Given the description of an element on the screen output the (x, y) to click on. 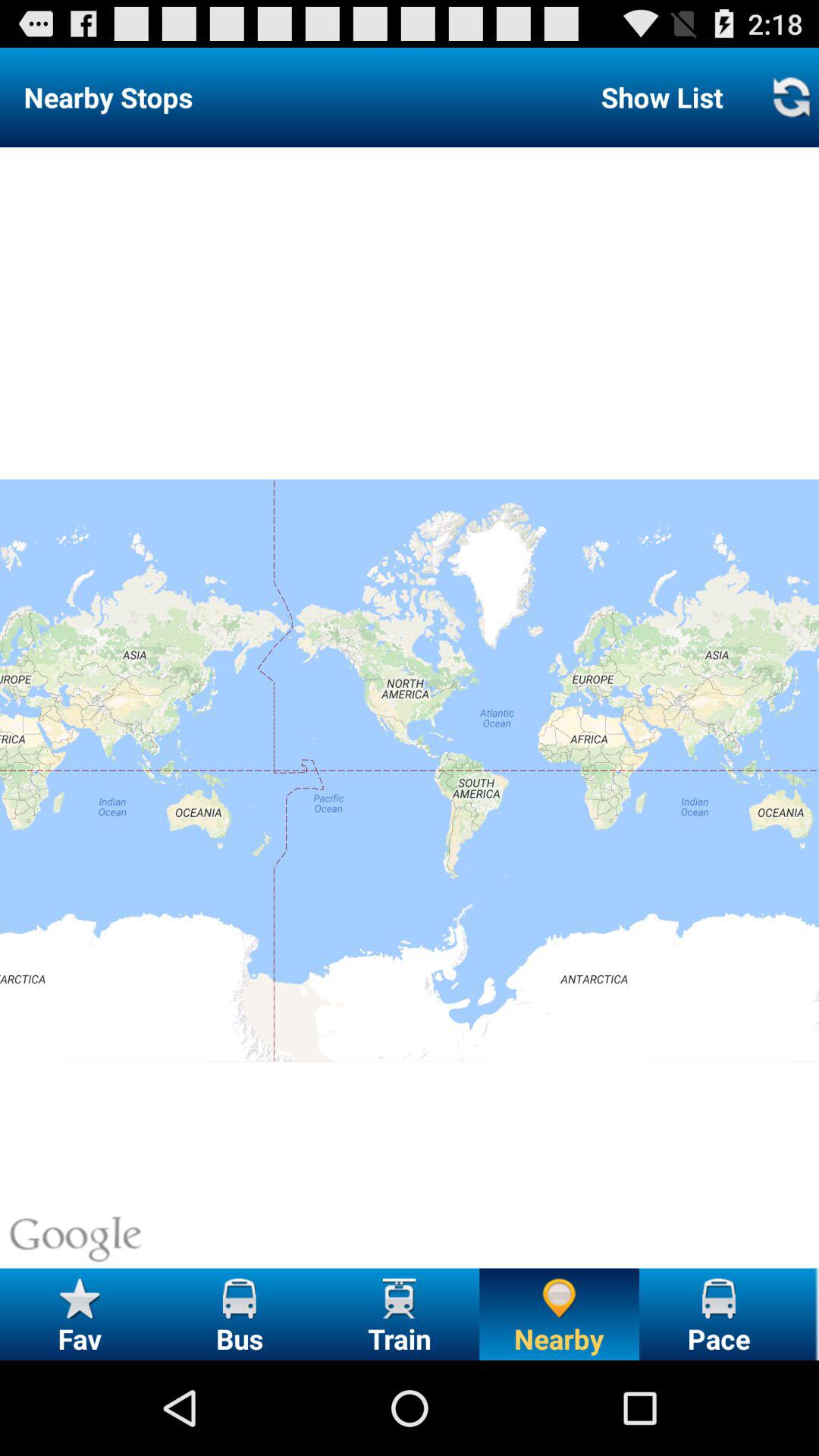
refresh list (791, 97)
